Given the description of an element on the screen output the (x, y) to click on. 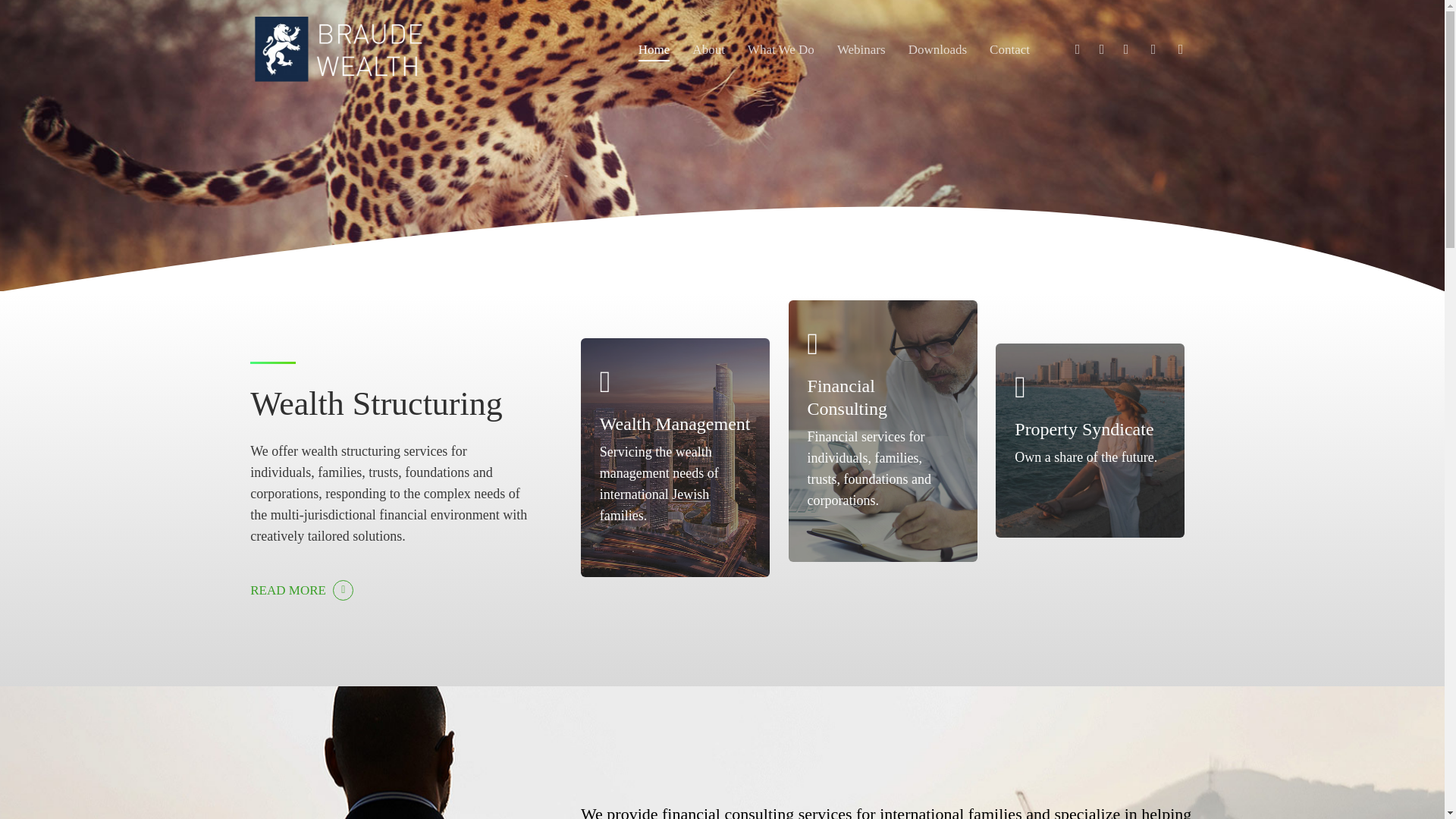
About (709, 49)
Webinars (861, 49)
FINANCIAL CONSULTING (842, 668)
Email (1180, 48)
What We Do (780, 49)
PROPERTY SYNDICATE (842, 688)
Phone (1153, 48)
Linkedin (1126, 48)
Home (654, 49)
WEALTH MANAGEMENT (842, 649)
Twitter (1077, 48)
Downloads (937, 49)
ABOUT (842, 629)
Facebook (1101, 48)
READ MORE (301, 590)
